Given the description of an element on the screen output the (x, y) to click on. 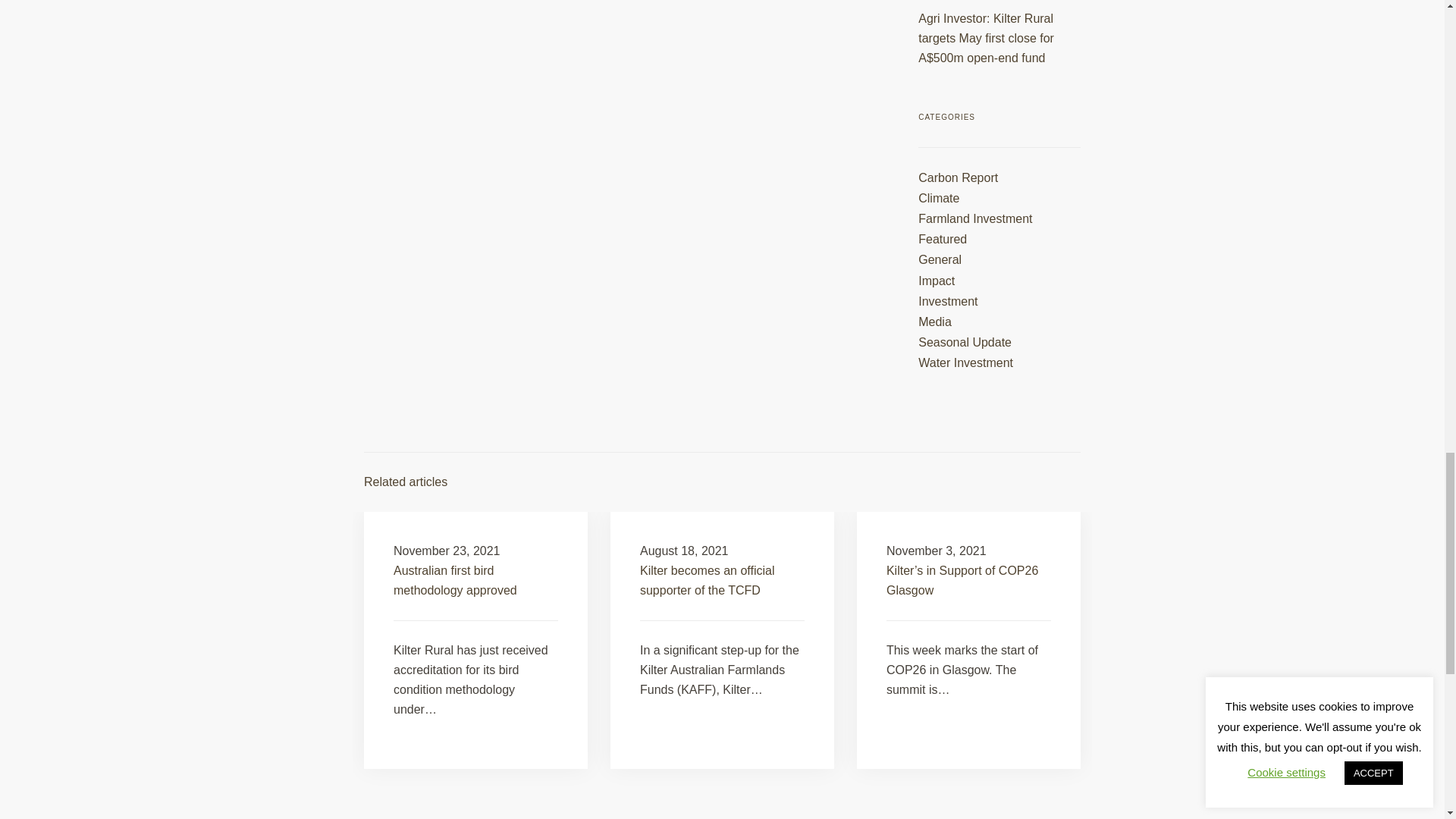
Farmland Investment (975, 218)
Water Investment (965, 362)
General (939, 259)
Carbon Report (957, 177)
Media (935, 321)
Climate (938, 197)
Impact (936, 280)
Featured (942, 238)
Seasonal Update (964, 341)
Investment (947, 300)
